Given the description of an element on the screen output the (x, y) to click on. 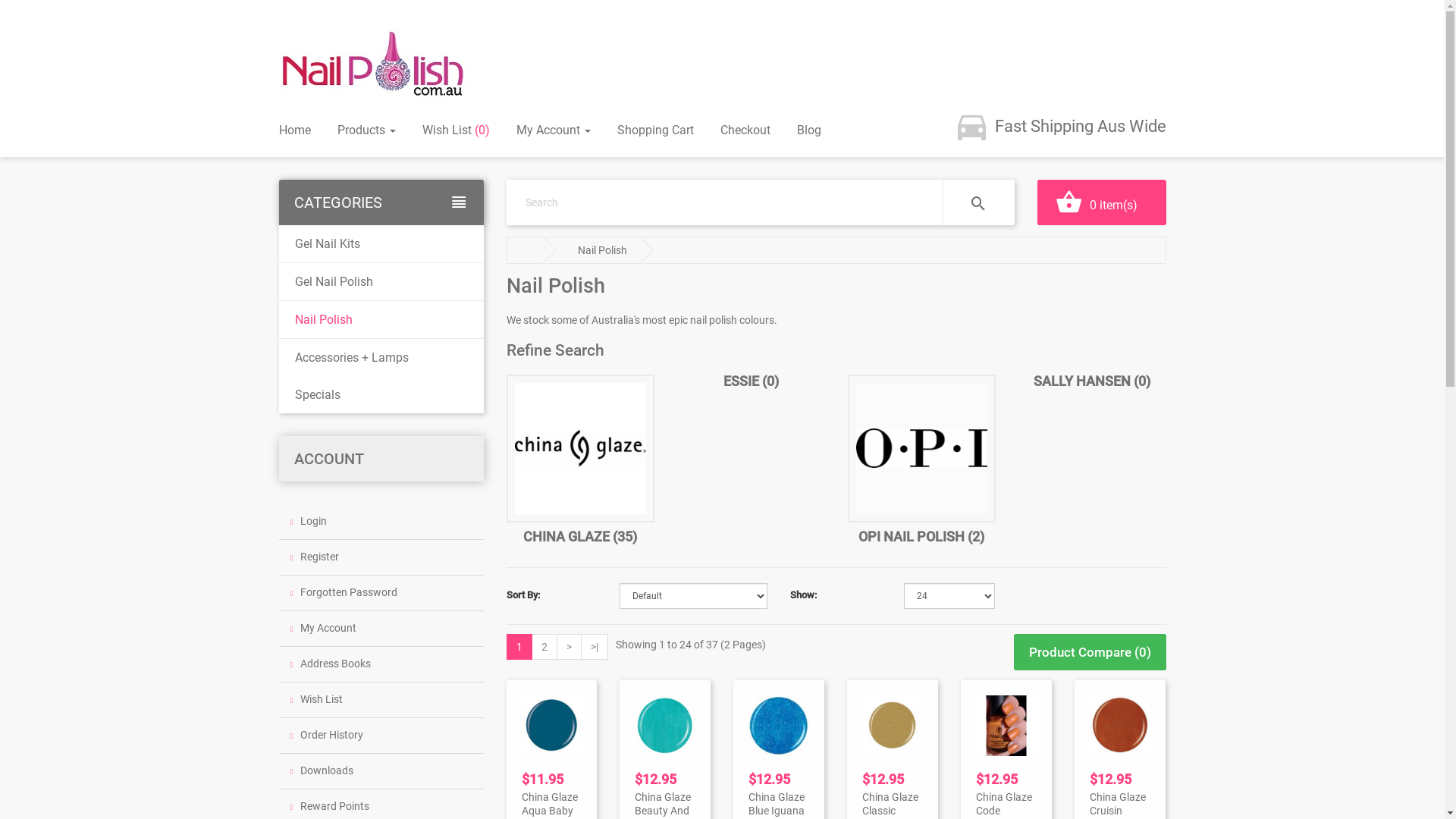
Gel Nail Kits Element type: text (381, 243)
Register Element type: text (381, 557)
Forgotten Password Element type: text (381, 593)
China Glaze Cruisin Element type: hover (1119, 725)
Products Element type: text (365, 129)
China Glaze Aqua Baby Element type: text (549, 803)
OPI NAIL POLISH (2) Element type: text (921, 536)
Address Books Element type: text (381, 664)
Checkout Element type: text (745, 129)
Accessories + Lamps Element type: text (381, 357)
>| Element type: text (594, 646)
Blog Element type: text (808, 129)
China Glaze Blue Iguana Element type: text (776, 803)
Login Element type: text (381, 521)
China Glaze Aqua Baby Element type: hover (551, 725)
Home Element type: text (294, 129)
> Element type: text (568, 646)
Downloads Element type: text (381, 771)
Product Compare (0) Element type: text (1089, 651)
China Glaze Beauty And The Beach Element type: hover (664, 725)
0 item(s) Element type: text (1101, 202)
Order History Element type: text (381, 735)
Gel Nail Polish Element type: text (381, 281)
Wish List Element type: text (381, 700)
Specials Element type: text (381, 394)
2 Element type: text (543, 646)
China Glaze Cruisin Element type: text (1117, 803)
ESSIE (0) Element type: text (750, 381)
Nail Polish Element type: text (381, 319)
Wish List (0) Element type: text (455, 129)
Nail Polish Australia - nailpolish.com.au Element type: hover (373, 64)
SALLY HANSEN (0) Element type: text (1091, 381)
My Account Element type: text (552, 129)
China Glaze Code Orange Element type: hover (1005, 725)
CHINA GLAZE (35) Element type: text (580, 536)
China Glaze Blue Iguana Element type: hover (778, 725)
My Account Element type: text (381, 628)
Shopping Cart Element type: text (655, 129)
China Glaze Classic Camel Element type: hover (892, 725)
